Given the description of an element on the screen output the (x, y) to click on. 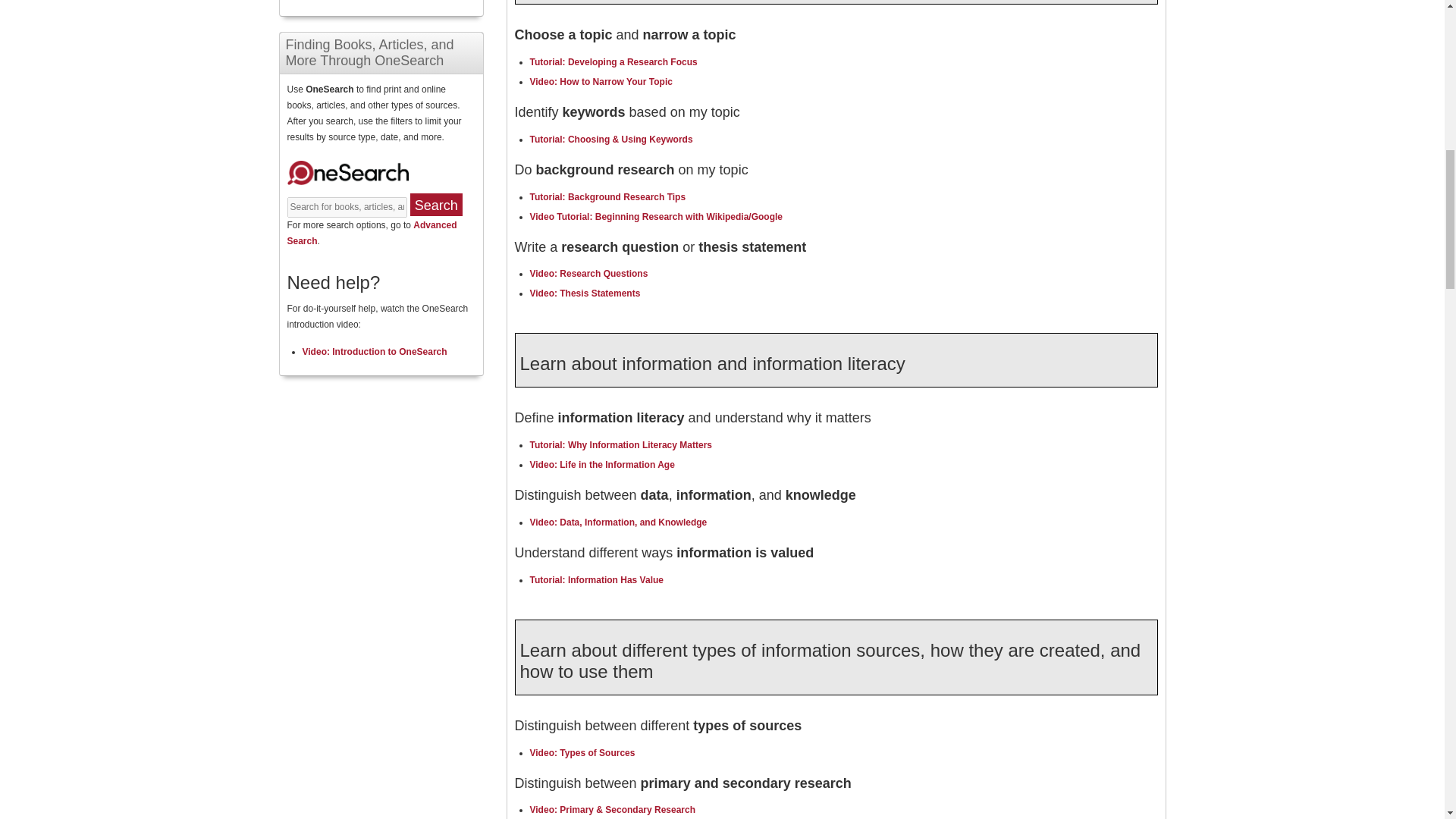
Video: Introduction to OneSearch (373, 351)
Tutorial: Information Has Value (595, 579)
Video: How to Narrow Your Topic (600, 81)
Search (436, 204)
Video: Types of Sources (581, 752)
Video: Thesis Statements (584, 293)
Advanced Search (371, 233)
Video: Data, Information, and Knowledge (617, 521)
Video: Research Questions (588, 273)
Search (436, 204)
Tutorial: Developing a Research Focus (613, 61)
Tutorial: Background Research Tips (607, 196)
Tutorial: Why Information Literacy Matters (620, 444)
Video: Life in the Information Age (601, 464)
